Given the description of an element on the screen output the (x, y) to click on. 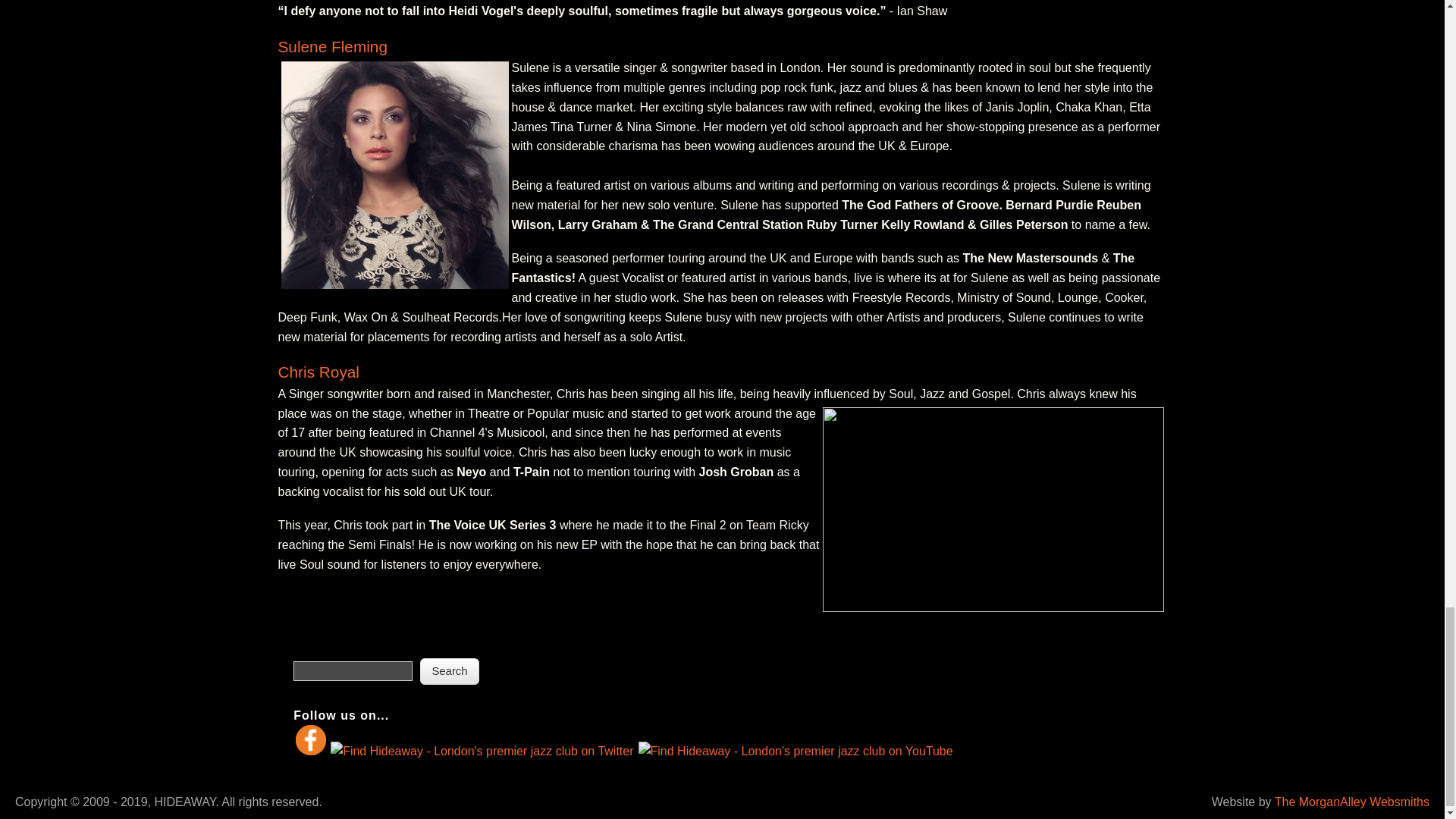
Find Hideaway - London's premier jazz club on Twitter (481, 750)
Search (450, 671)
Enter the terms you wish to search for. (353, 670)
Find Hideaway - London's premier jazz club on Facebook (311, 750)
Find Hideaway - London's premier jazz club on Facebook (311, 739)
Find Hideaway - London's premier jazz club on Twitter (481, 751)
The MorganAlley Websmiths (1352, 801)
Search (450, 671)
Find Hideaway - London's premier jazz club on YouTube (795, 751)
Find Hideaway - London's premier jazz club on YouTube (795, 750)
